Given the description of an element on the screen output the (x, y) to click on. 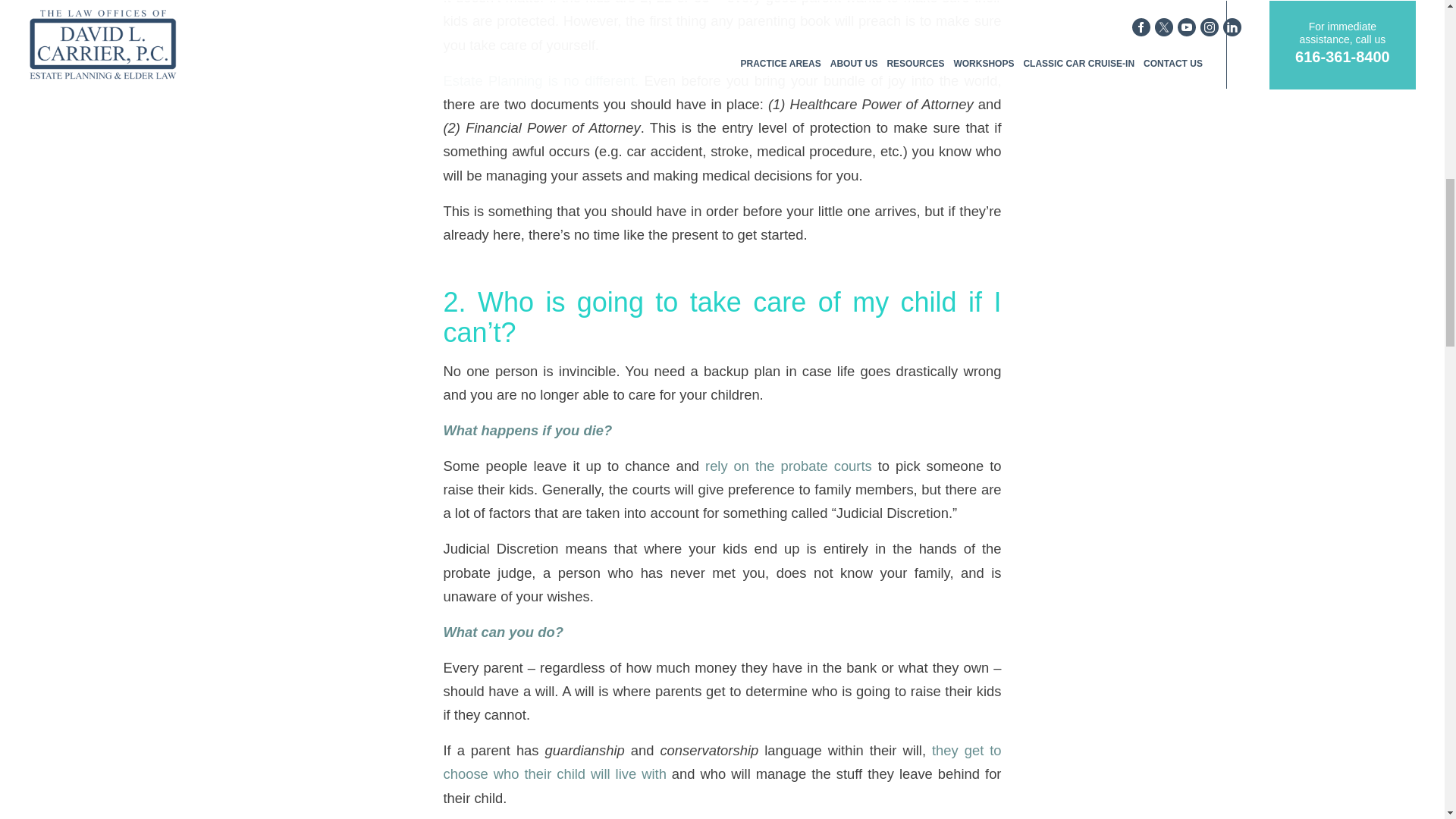
rely on the probate courts (788, 465)
they get to choose who their child will live with (721, 762)
Estate Planning is no different. (540, 80)
